Given the description of an element on the screen output the (x, y) to click on. 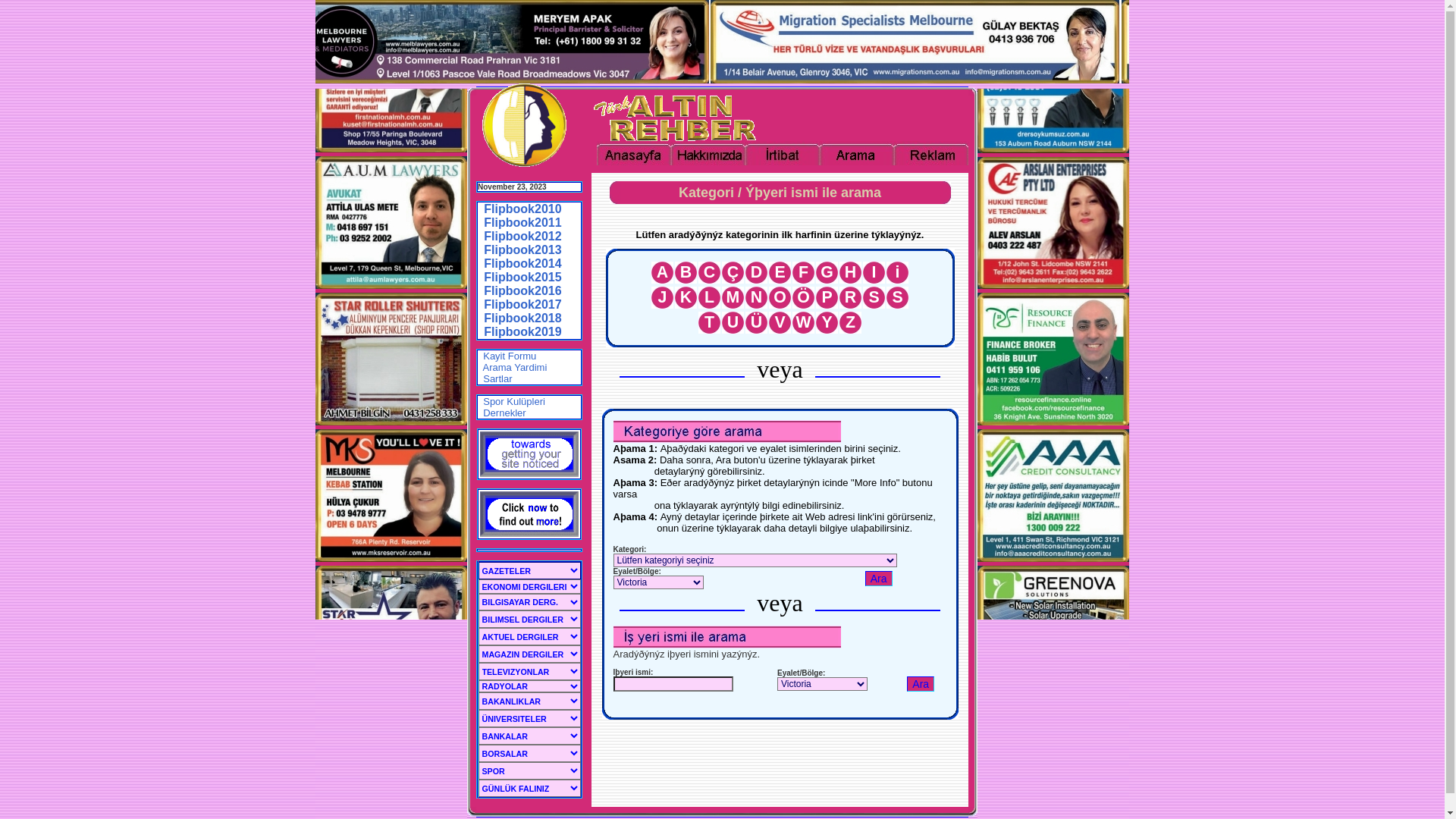
Flipbook2012 Element type: text (522, 235)
i Element type: text (897, 274)
J Element type: text (662, 299)
A Element type: text (662, 274)
Y Element type: text (826, 324)
Flipbook2015 Element type: text (522, 276)
W Element type: text (802, 324)
R Element type: text (850, 299)
Ara Element type: text (920, 683)
K Element type: text (685, 299)
Flipbook2017 Element type: text (522, 304)
Flipbook2016 Element type: text (522, 290)
E Element type: text (779, 274)
  Sartlar Element type: text (494, 378)
V Element type: text (779, 324)
N Element type: text (756, 299)
  Arama Yardimi Element type: text (511, 367)
Ara Element type: text (878, 577)
F Element type: text (803, 274)
Flipbook2010 Element type: text (522, 208)
Flipbook2011 Element type: text (522, 222)
H Element type: text (850, 274)
Z Element type: text (850, 324)
P Element type: text (826, 299)
U Element type: text (732, 324)
B Element type: text (685, 274)
Flipbook2019 Element type: text (522, 331)
Flipbook2013 Element type: text (522, 249)
L Element type: text (709, 299)
Flipbook2014 Element type: text (522, 263)
S Element type: text (873, 299)
D Element type: text (756, 274)
  Dernekler Element type: text (501, 412)
G Element type: text (826, 274)
Flipbook2018 Element type: text (522, 317)
  Kayit Formu Element type: text (506, 355)
S Element type: text (896, 299)
I Element type: text (874, 274)
C Element type: text (709, 274)
O Element type: text (779, 299)
T Element type: text (709, 324)
M Element type: text (733, 299)
